Given the description of an element on the screen output the (x, y) to click on. 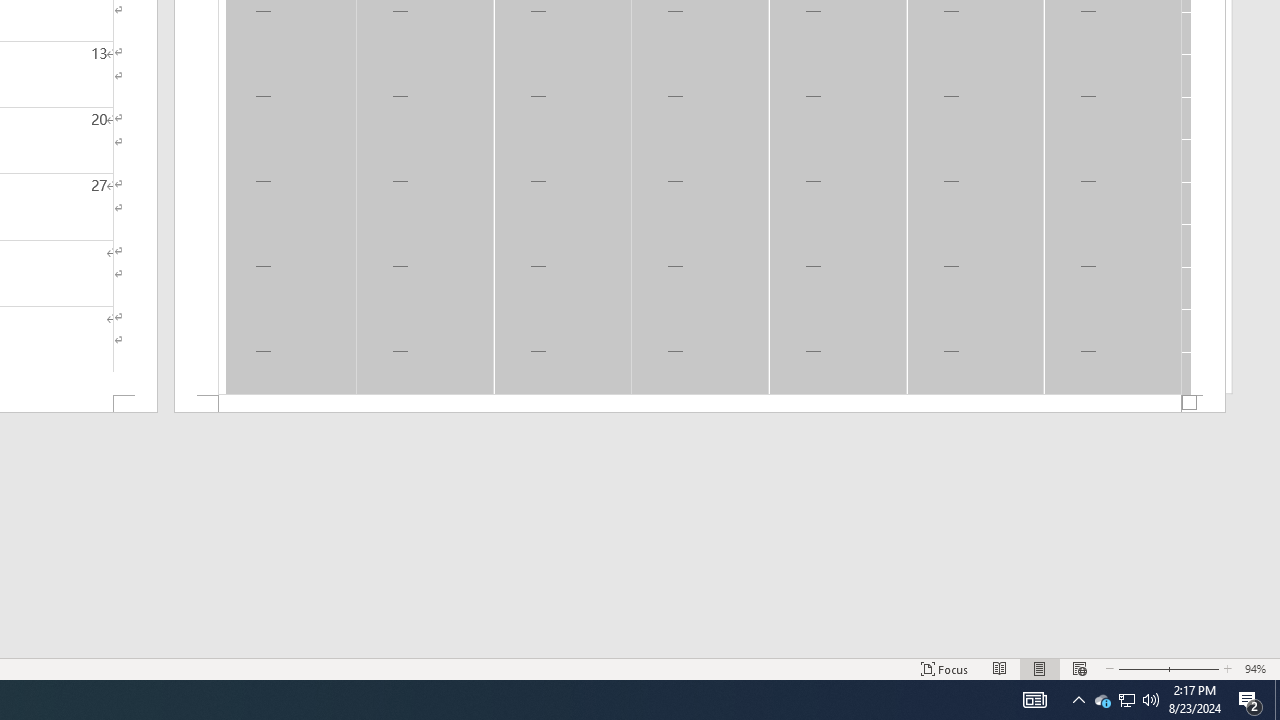
Print Layout (1039, 668)
Web Layout (1079, 668)
Zoom Out (1140, 668)
Zoom In (1193, 668)
Focus  (944, 668)
Read Mode (1000, 668)
Footer -Section 1- (700, 404)
